Given the description of an element on the screen output the (x, y) to click on. 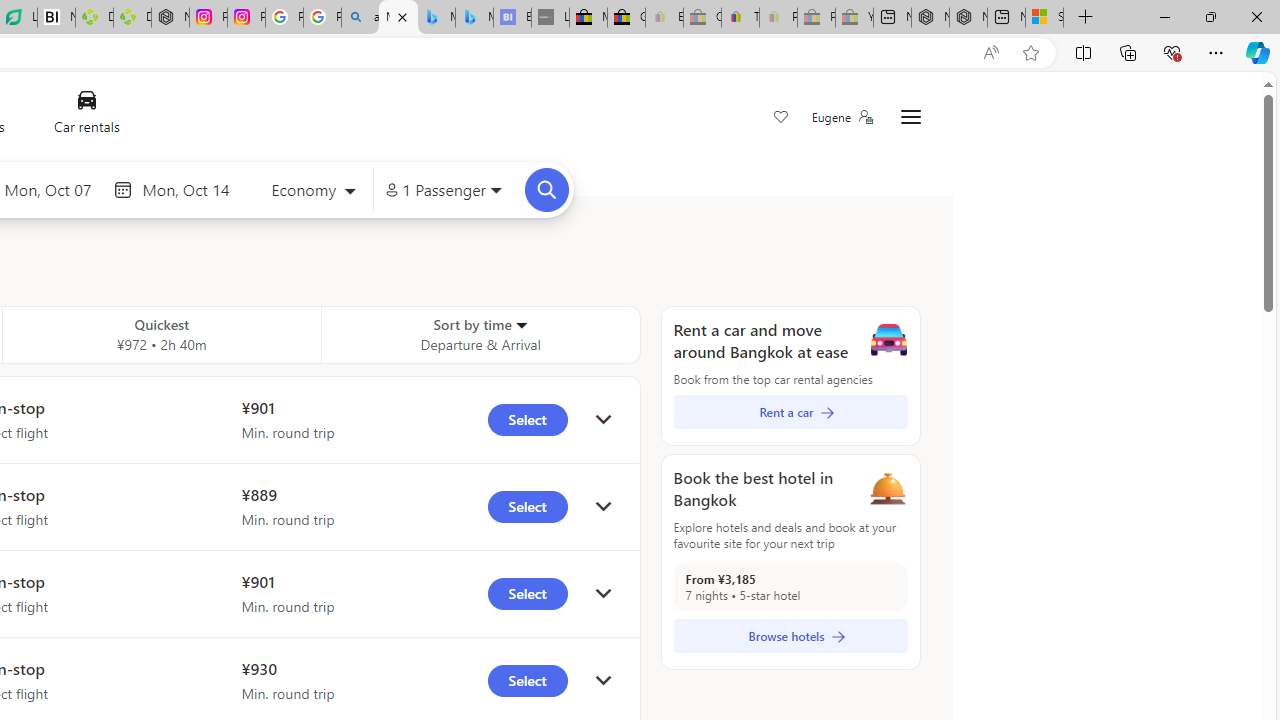
Descarga Driver Updater (132, 17)
End date (191, 189)
Payments Terms of Use | eBay.com - Sleeping (778, 17)
Threats and offensive language policy | eBay (740, 17)
Sort by time Sorter Departure & Arrival (480, 334)
